Given the description of an element on the screen output the (x, y) to click on. 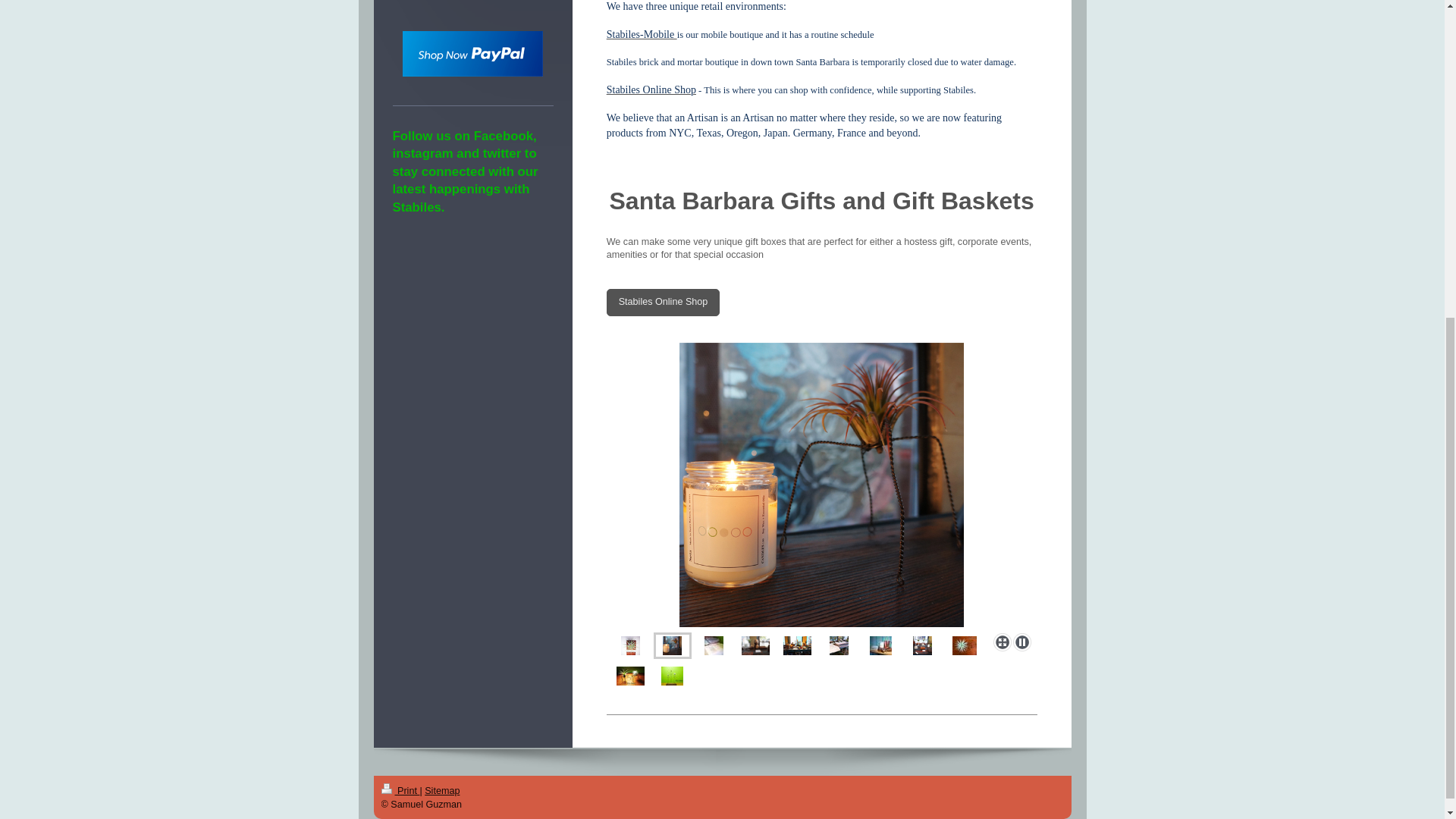
Stabiles-Mobile  (642, 34)
Stabiles Online Shop (651, 89)
